Given the description of an element on the screen output the (x, y) to click on. 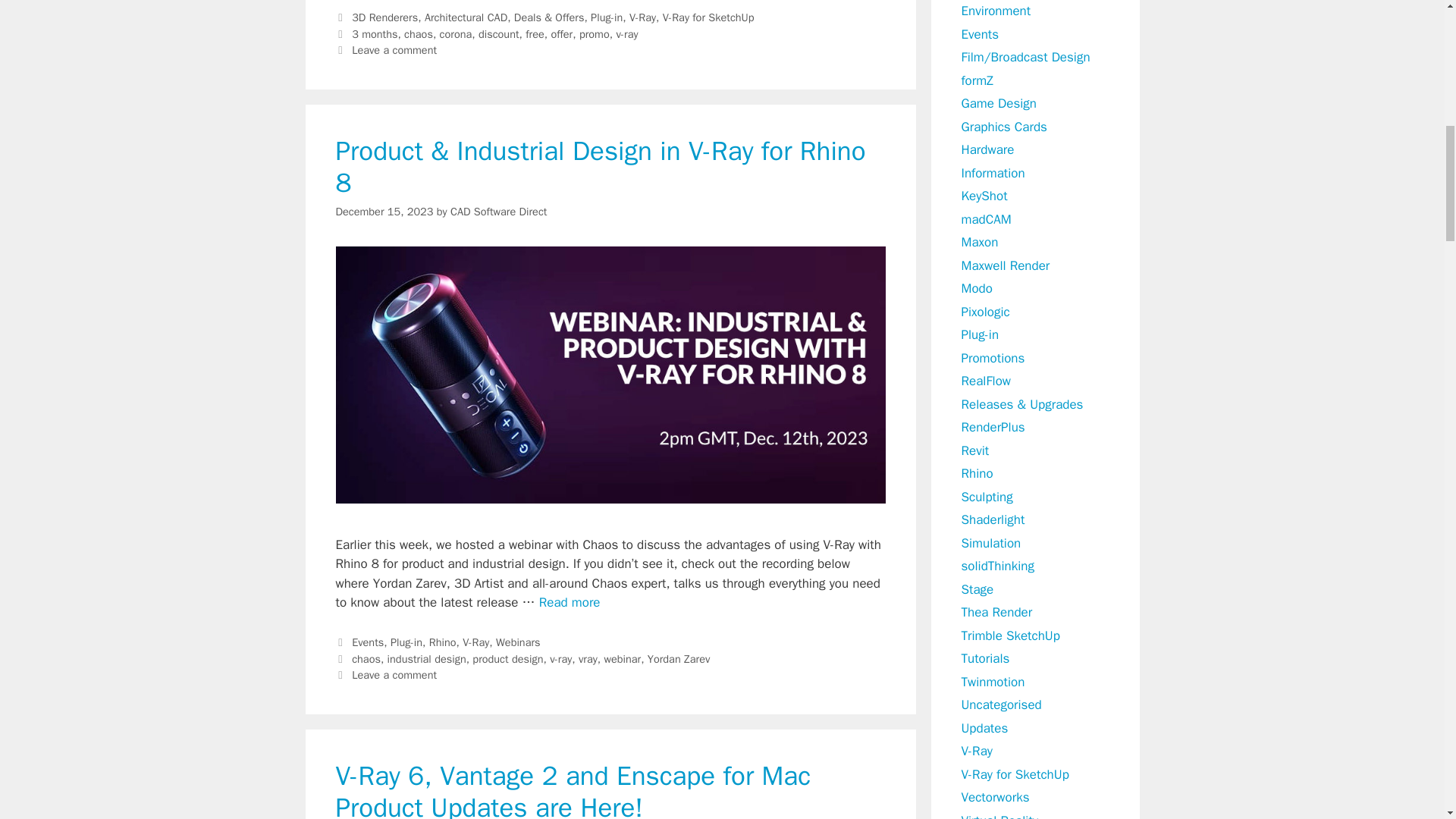
chaos (418, 33)
Plug-in (607, 17)
Events (368, 642)
promo (594, 33)
V-Ray (642, 17)
Webinars (518, 642)
Architectural CAD (465, 17)
CAD Software Direct (498, 211)
chaos (366, 658)
industrial design (426, 658)
V-Ray for SketchUp (708, 17)
Rhino (443, 642)
View all posts by CAD Software Direct (498, 211)
Leave a comment (394, 49)
3 months (374, 33)
